Given the description of an element on the screen output the (x, y) to click on. 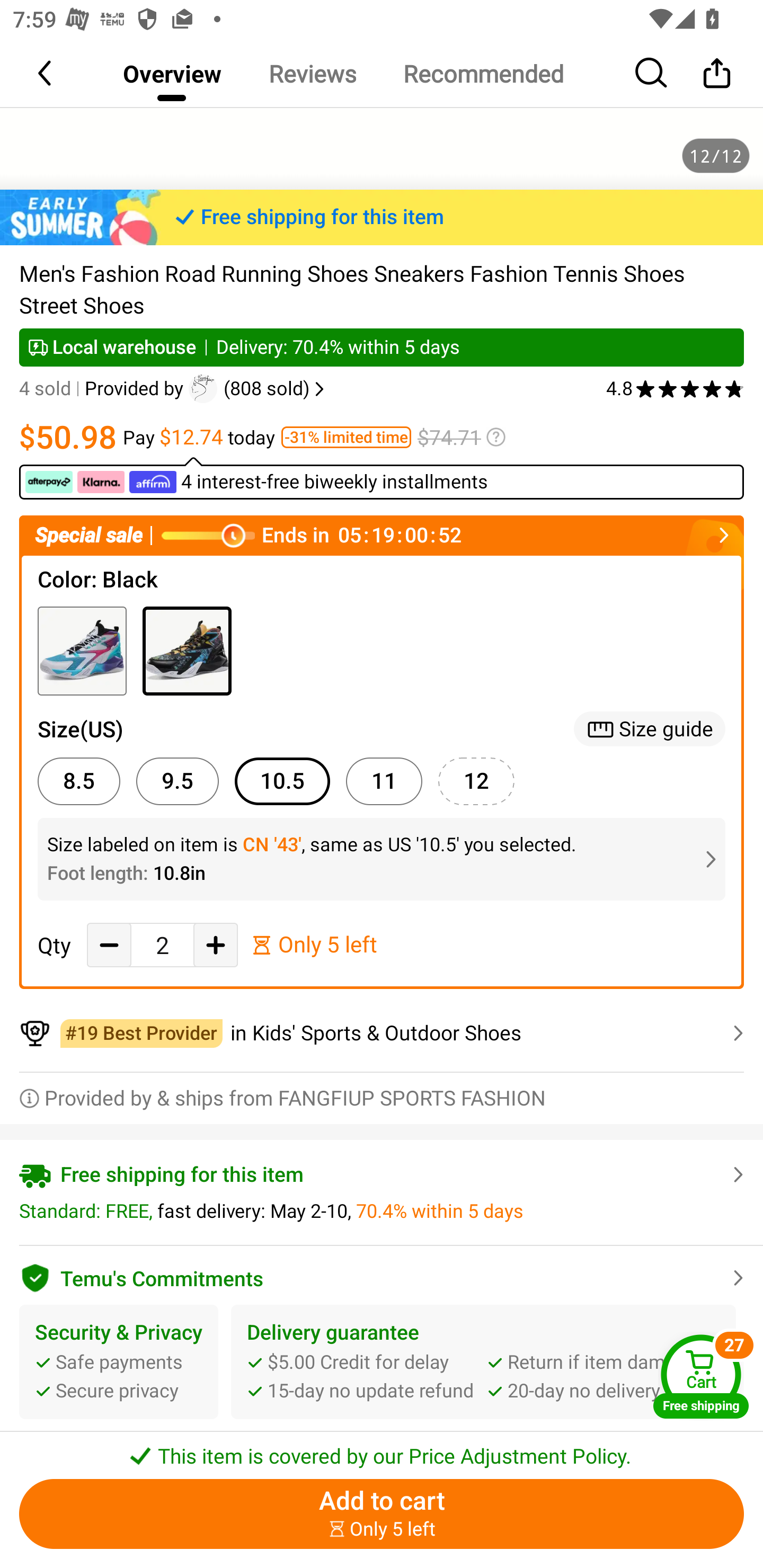
Overview (171, 72)
Reviews (311, 72)
Recommended (482, 72)
Back (46, 72)
Share (716, 72)
Free shipping for this item (381, 216)
Local warehouse Delivery: 70.4% within 5 days (381, 346)
4 sold Provided by  (103, 388)
4.8 (674, 388)
￼ ￼ ￼ 4 interest-free biweekly installments (381, 478)
Special sale Ends in￼￼ (381, 535)
White Blue (81, 651)
Black (186, 651)
 Size guide (649, 728)
8.5 (78, 781)
9.5 (176, 781)
10.5 (282, 781)
11 (383, 781)
12 (475, 781)
Decrease Quantity Button (108, 945)
Add Quantity button (215, 945)
2 (162, 945)
￼￼in Kids' Sports & Outdoor Shoes (381, 1032)
Temu's Commitments (381, 1275)
Security & Privacy Safe payments Secure privacy (118, 1361)
Cart Free shipping Cart (701, 1375)
Add to cart ￼￼Only 5 left (381, 1513)
